Given the description of an element on the screen output the (x, y) to click on. 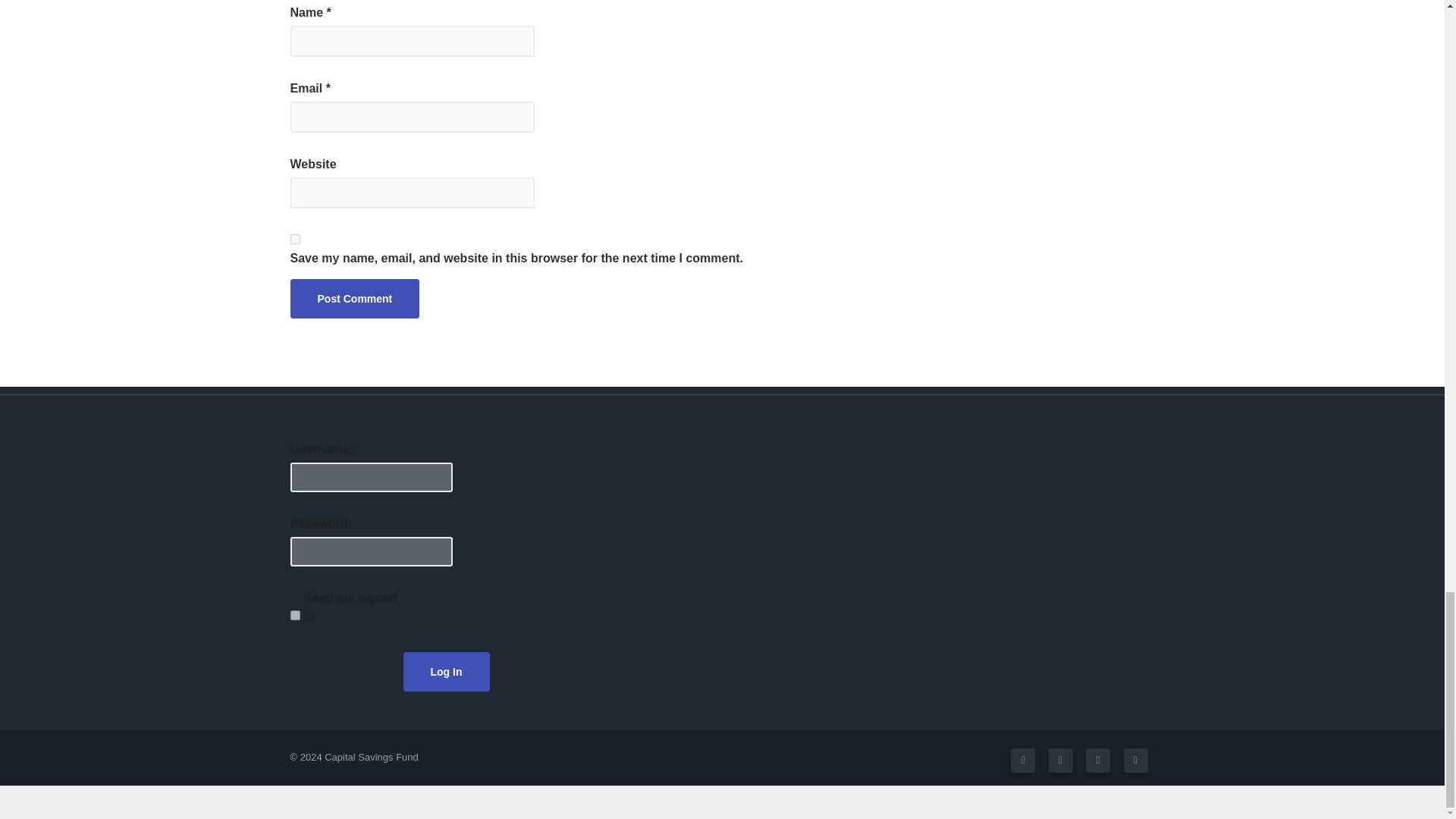
Post Comment (354, 298)
forever (294, 614)
Log In (446, 671)
Post Comment (354, 298)
yes (294, 239)
